Given the description of an element on the screen output the (x, y) to click on. 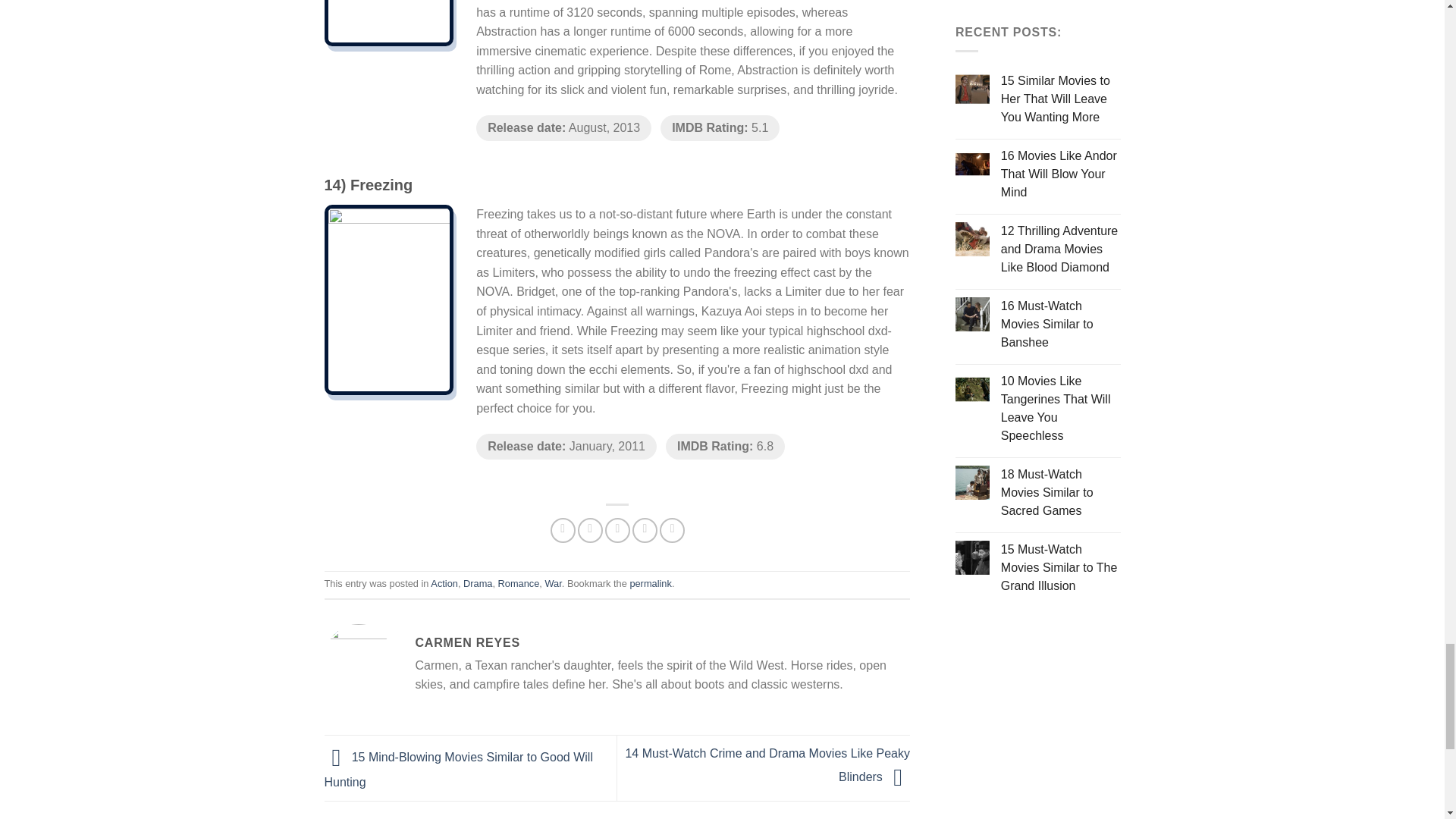
Share on Twitter (590, 529)
Share on Facebook (562, 529)
War (552, 583)
Pin on Pinterest (644, 529)
Share on LinkedIn (671, 529)
Drama (477, 583)
Action (444, 583)
permalink (649, 583)
14 Must-Watch Crime and Drama Movies Like Peaky Blinders (767, 764)
Email to a Friend (617, 529)
15 Mind-Blowing Movies Similar to Good Will Hunting (458, 769)
Romance (518, 583)
